Given the description of an element on the screen output the (x, y) to click on. 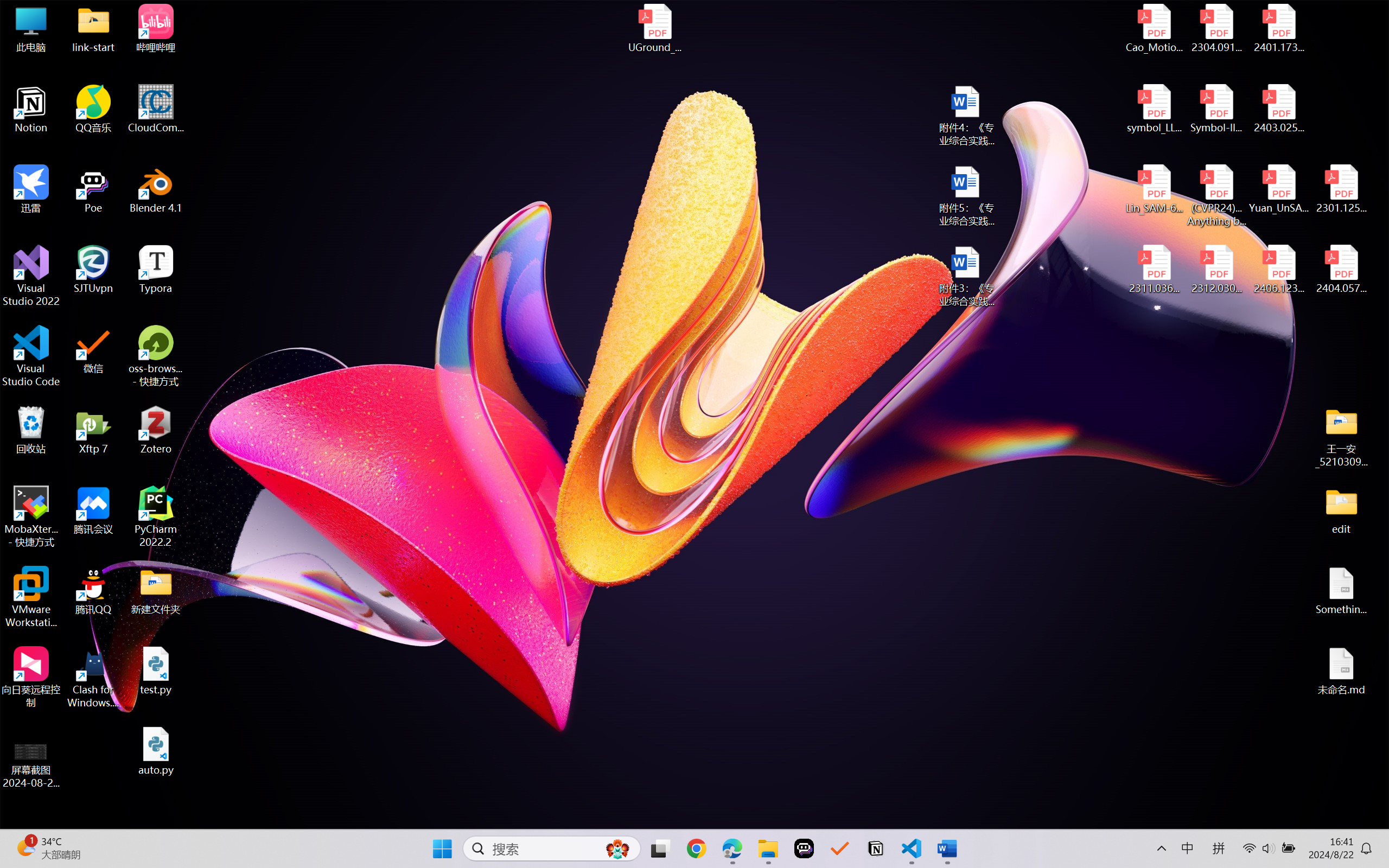
2311.03658v2.pdf (1154, 269)
auto.py (156, 751)
(CVPR24)Matching Anything by Segmenting Anything.pdf (1216, 195)
test.py (156, 670)
Visual Studio 2022 (31, 276)
2301.12597v3.pdf (1340, 189)
Something.md (1340, 591)
